Given the description of an element on the screen output the (x, y) to click on. 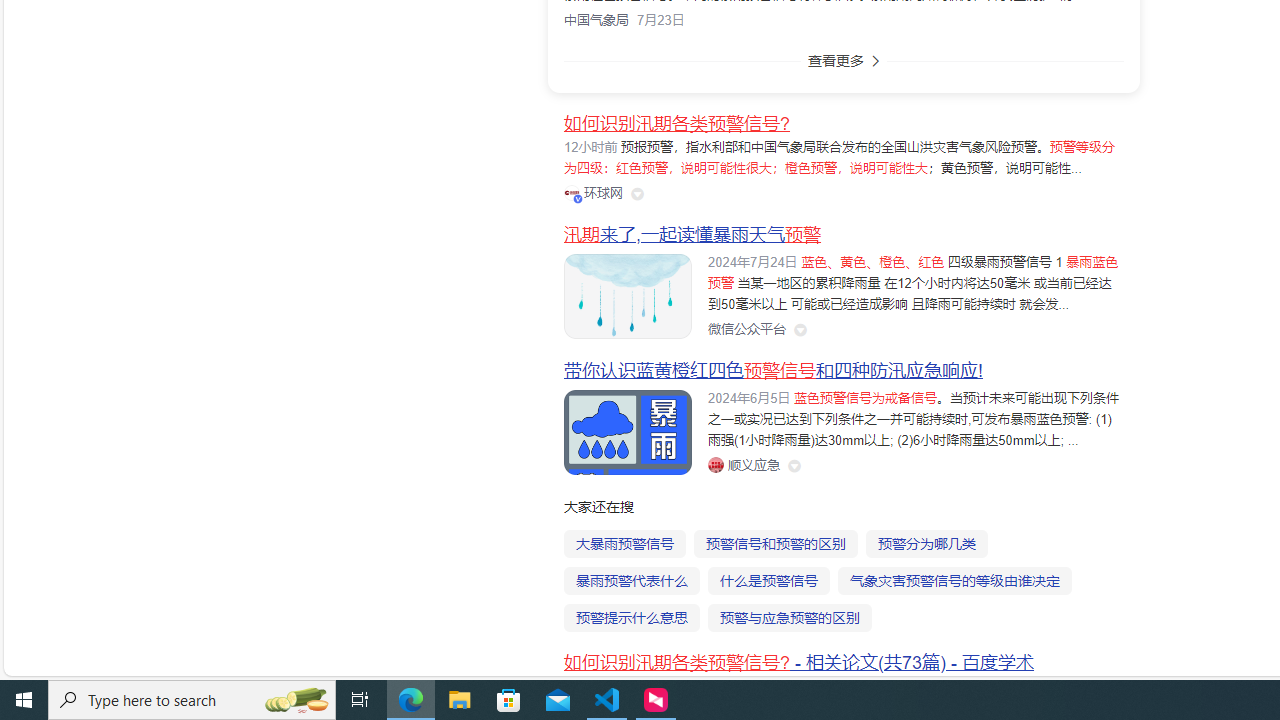
Class: siteLink_9TPP3 (743, 465)
Class: vip-icon_kNmNt (577, 198)
